Given the description of an element on the screen output the (x, y) to click on. 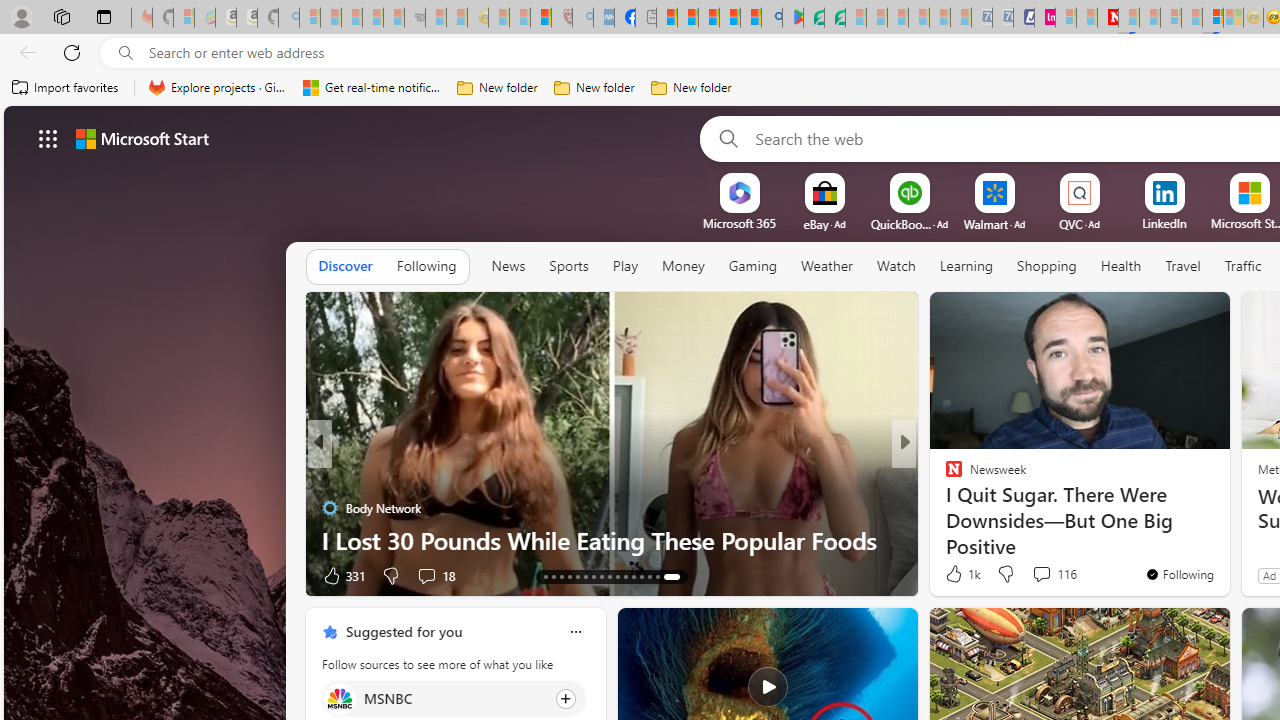
AutomationID: tab-23 (624, 576)
View comments 18 Comment (435, 574)
AutomationID: tab-20 (600, 576)
AutomationID: tab-15 (560, 576)
AutomationID: tab-40 (649, 576)
